Given the description of an element on the screen output the (x, y) to click on. 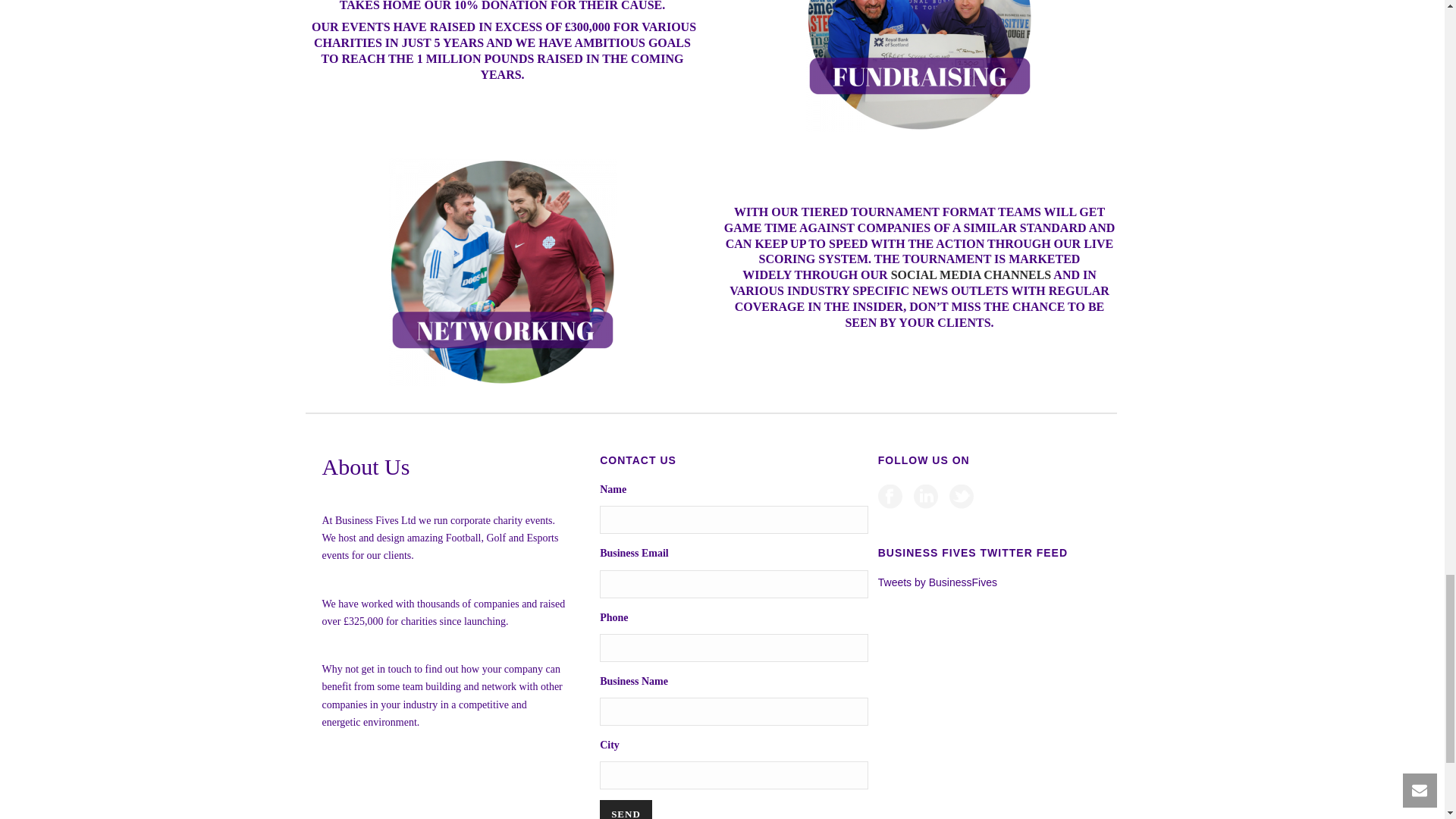
Follow Us on twitter (961, 497)
Follow Us on linkedin (925, 497)
Follow Us on facebook (889, 497)
Send (625, 809)
